Given the description of an element on the screen output the (x, y) to click on. 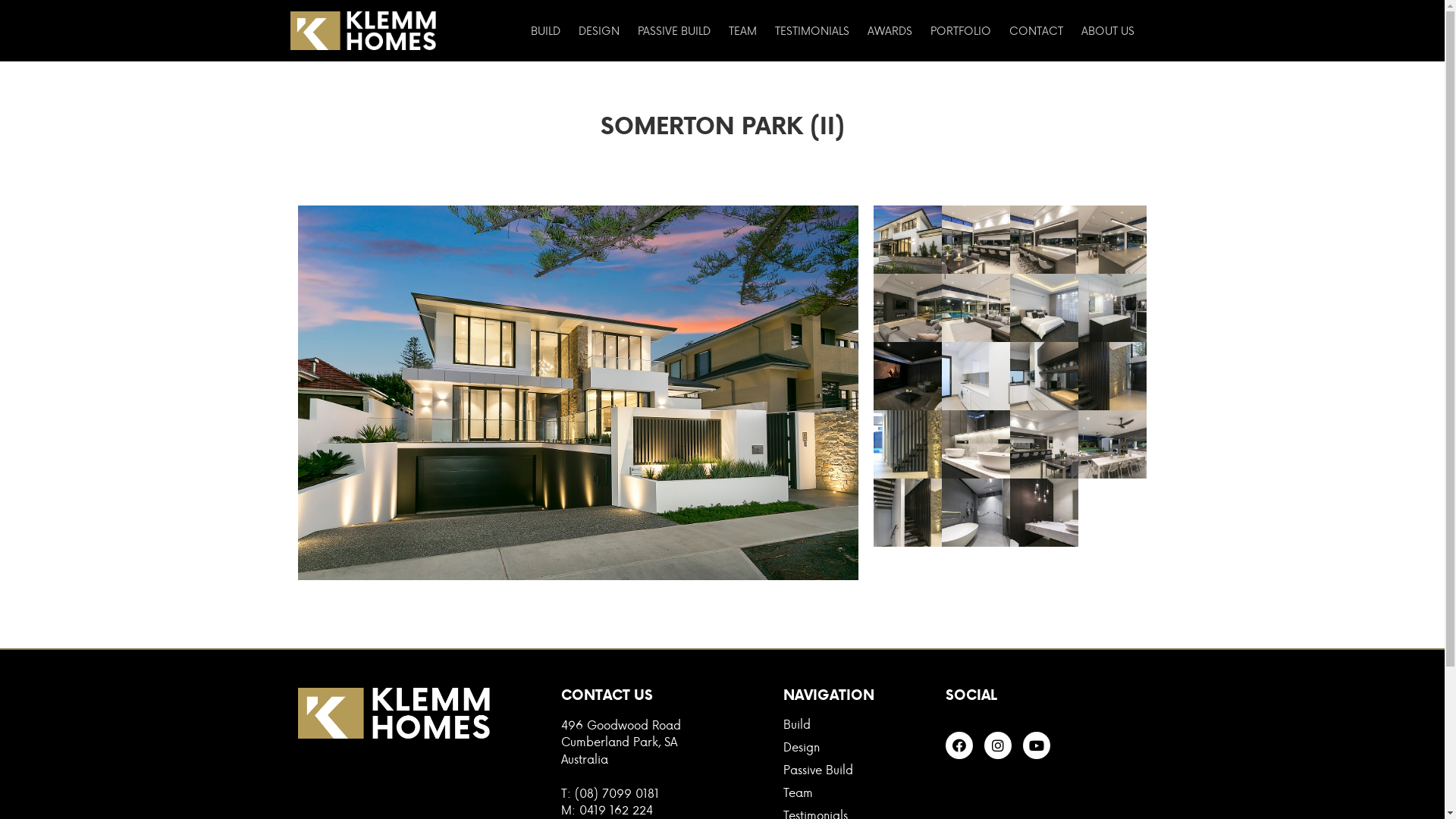
AWARDS Element type: text (889, 30)
BUILD Element type: text (545, 30)
ABOUT US Element type: text (1107, 30)
Design Element type: text (856, 746)
TESTIMONIALS Element type: text (811, 30)
PORTFOLIO Element type: text (959, 30)
CONTACT Element type: text (1035, 30)
Build Element type: text (856, 723)
(08) 7099 0181 Element type: text (616, 792)
DESIGN Element type: text (597, 30)
TEAM Element type: text (741, 30)
Passive Build Element type: text (856, 769)
0419 162 224 Element type: text (615, 809)
Team Element type: text (856, 792)
PASSIVE BUILD Element type: text (672, 30)
